Given the description of an element on the screen output the (x, y) to click on. 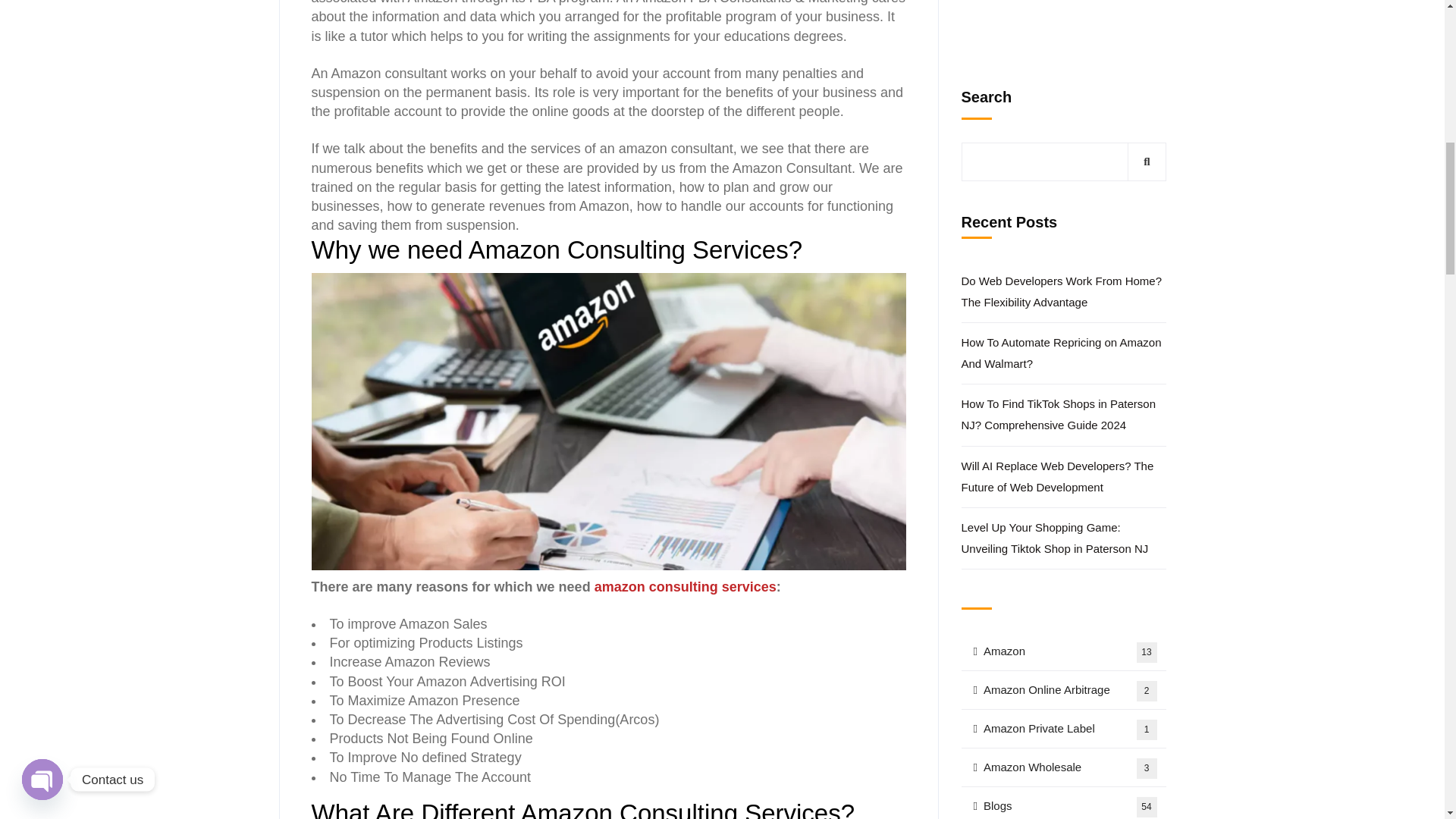
amazon consulting services (685, 586)
